Given the description of an element on the screen output the (x, y) to click on. 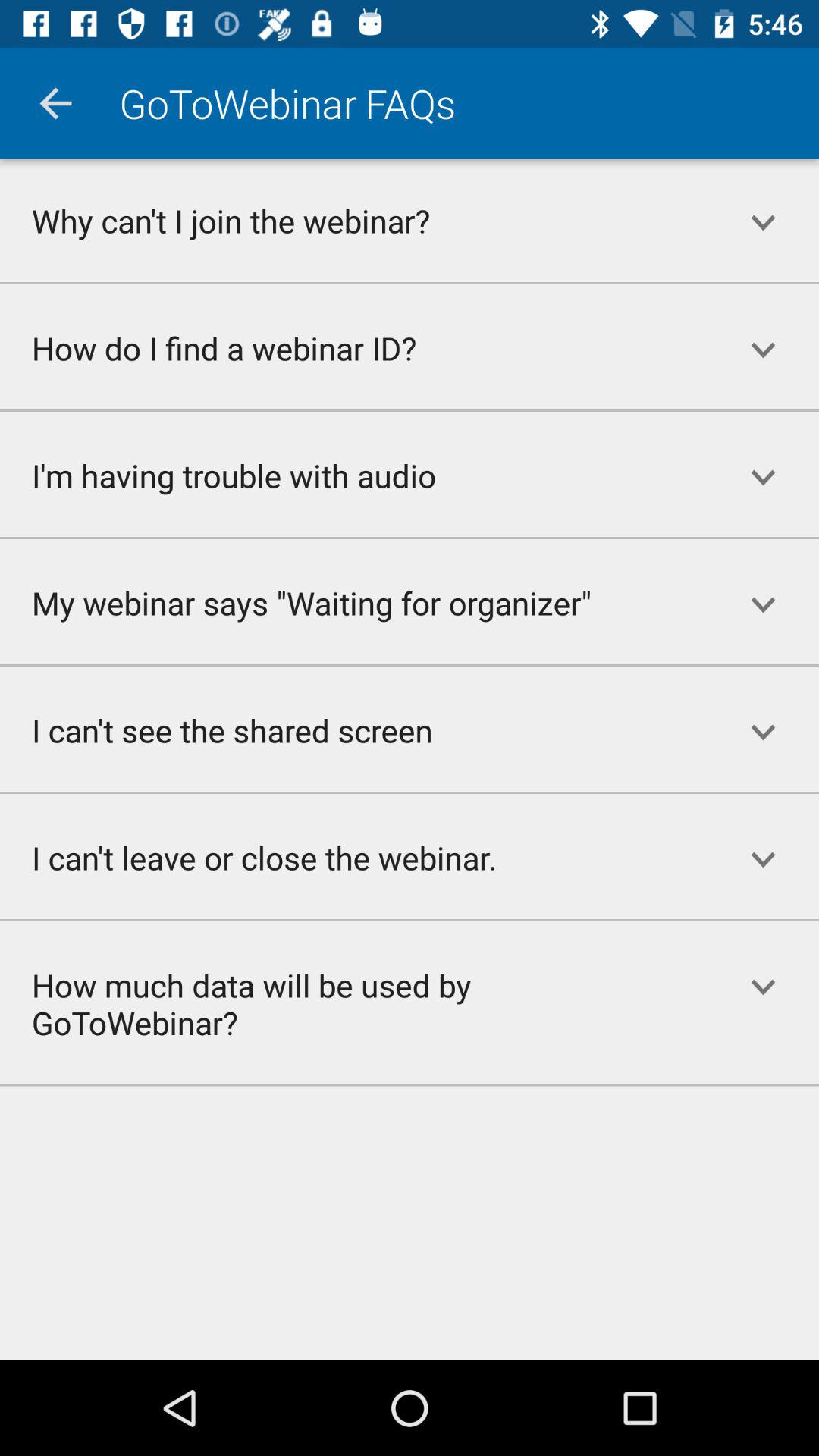
open the my webinar says (353, 602)
